Given the description of an element on the screen output the (x, y) to click on. 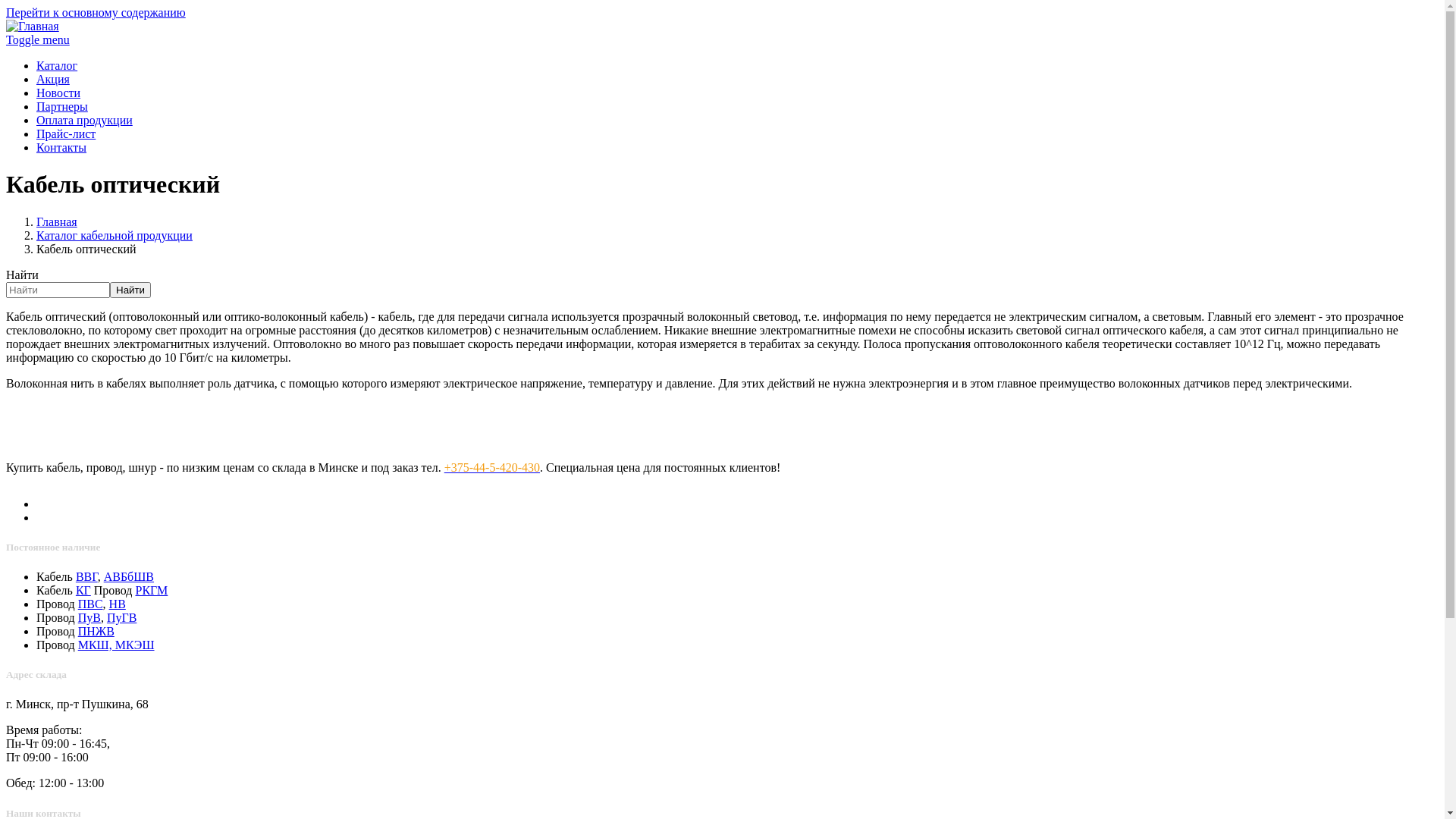
Toggle menu Element type: text (722, 40)
+375-44-5-420-430 Element type: text (491, 467)
